Given the description of an element on the screen output the (x, y) to click on. 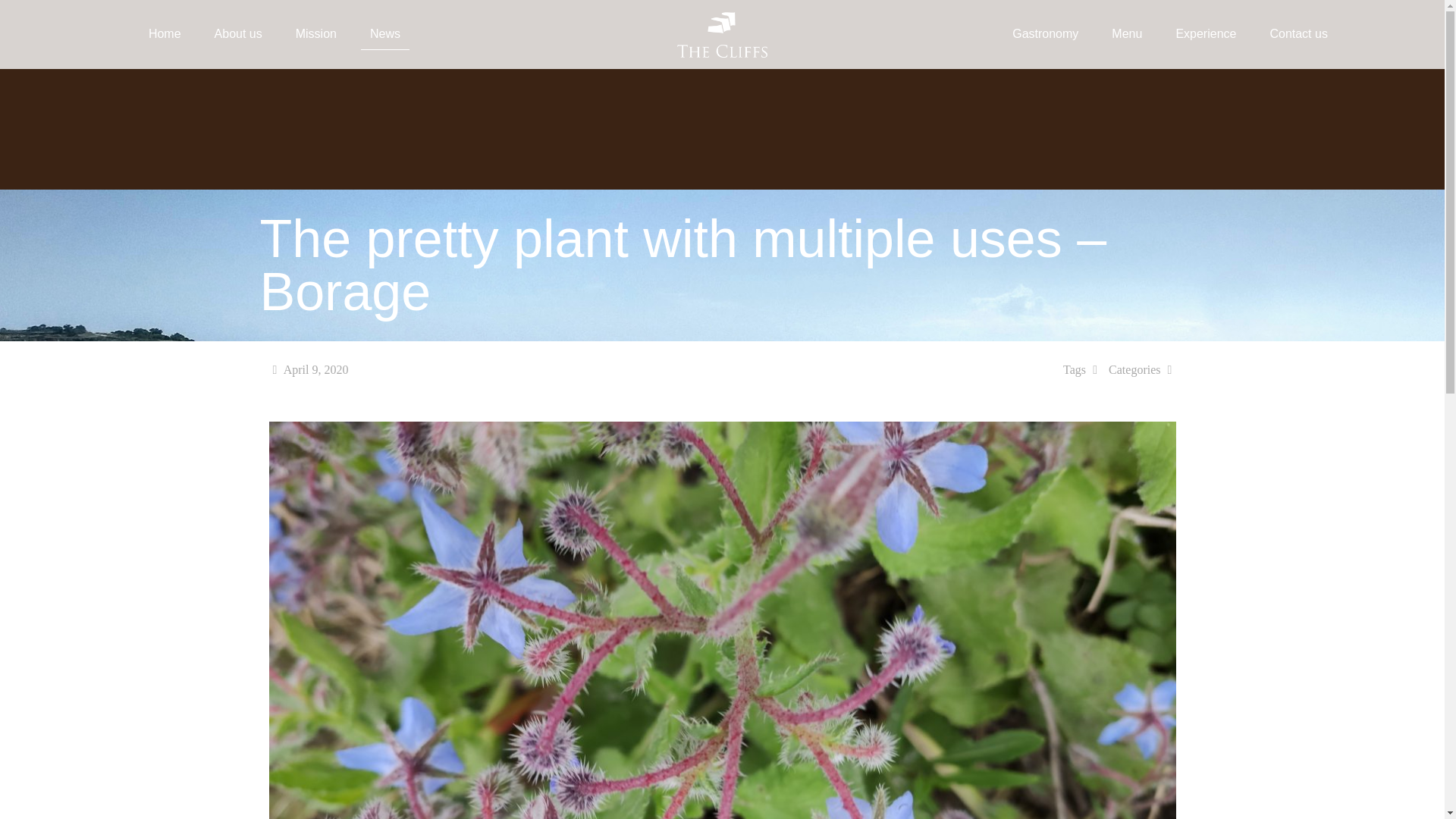
Home (164, 33)
Contact us (1297, 33)
Mission (316, 33)
News (384, 33)
Gastronomy (1045, 33)
About us (238, 33)
The Cliffs (721, 33)
Experience (1205, 33)
